Given the description of an element on the screen output the (x, y) to click on. 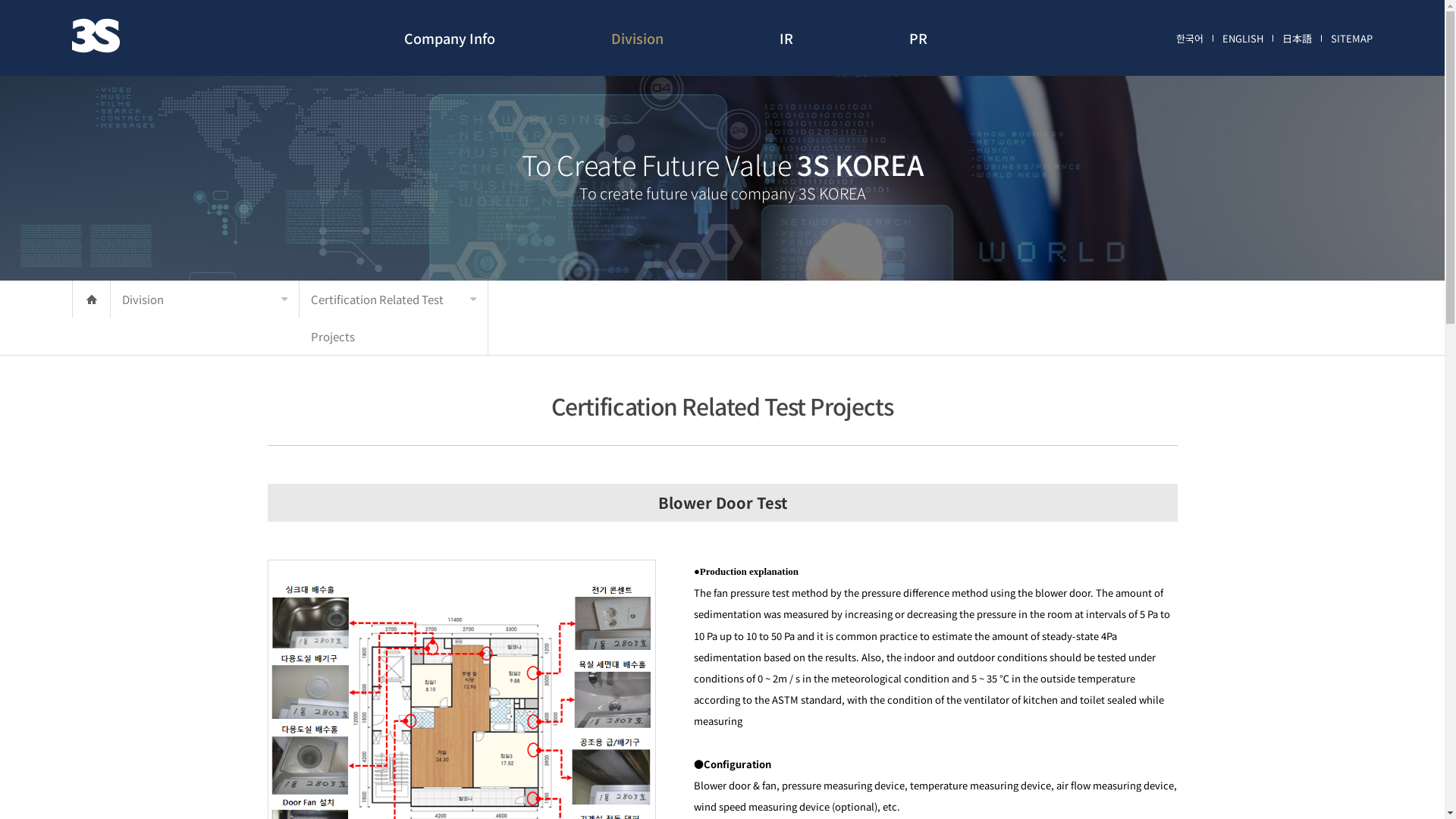
Skip to content Element type: text (0, 0)
Division Element type: text (637, 37)
PR Element type: text (917, 37)
Company Info Element type: text (448, 37)
Certification Related Test Projects Element type: text (393, 317)
IR Element type: text (786, 37)
SITEMAP Element type: text (1351, 38)
Division Element type: text (204, 298)
HOME Element type: text (90, 298)
ENGLISH Element type: text (1242, 38)
